Given the description of an element on the screen output the (x, y) to click on. 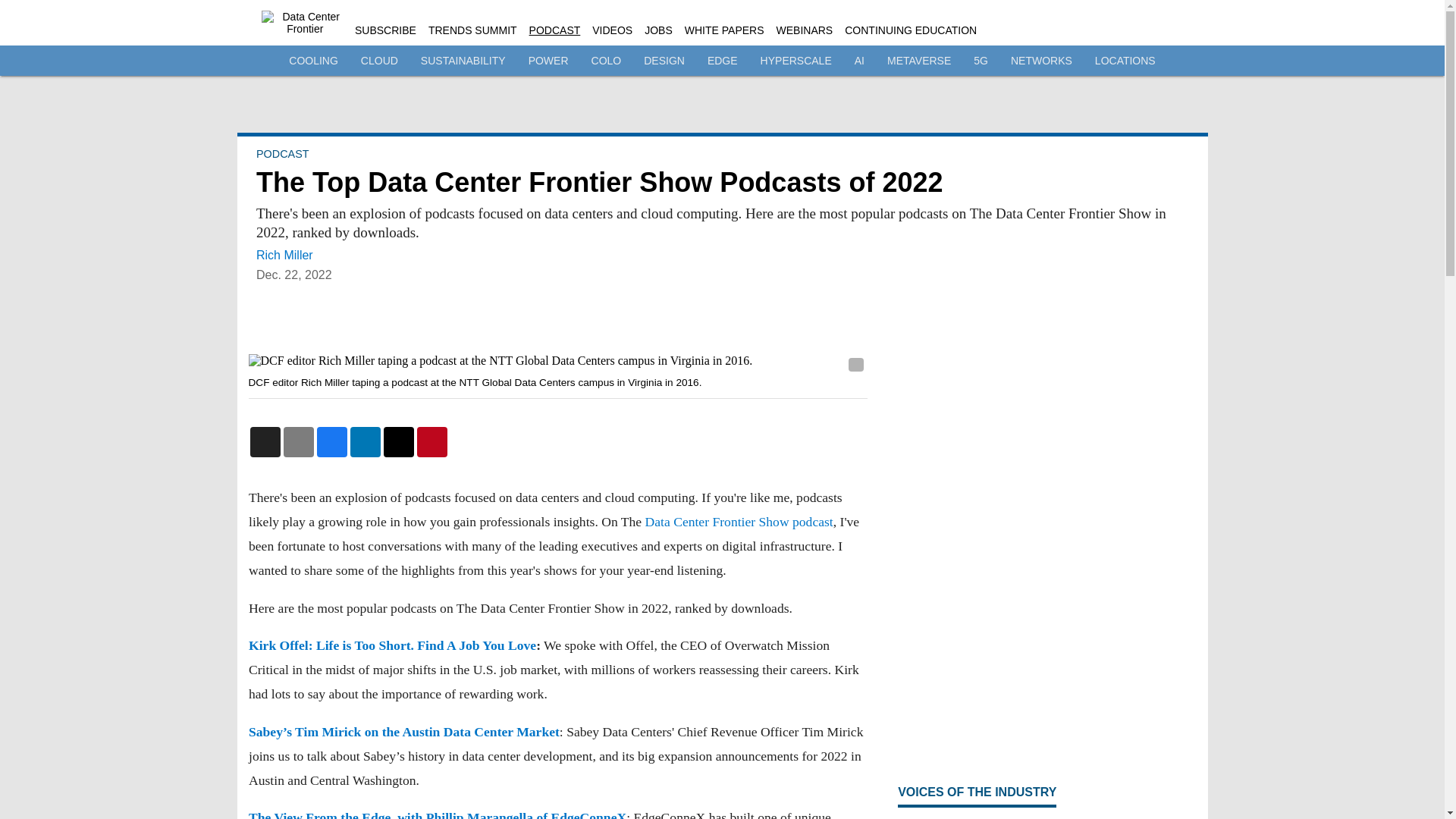
Kirk Offel: Life is Too Short. Find A Job You Love (391, 645)
COOLING (312, 60)
WHITE PAPERS (724, 30)
TRENDS SUMMIT (472, 30)
CLOUD (379, 60)
METAVERSE (918, 60)
PODCAST (282, 153)
POWER (548, 60)
AI (859, 60)
Data Center Frontier Show podcast (738, 521)
LOCATIONS (1125, 60)
Rich Miller (284, 254)
CONTINUING EDUCATION (910, 30)
DESIGN (663, 60)
SUBSCRIBE (385, 30)
